Given the description of an element on the screen output the (x, y) to click on. 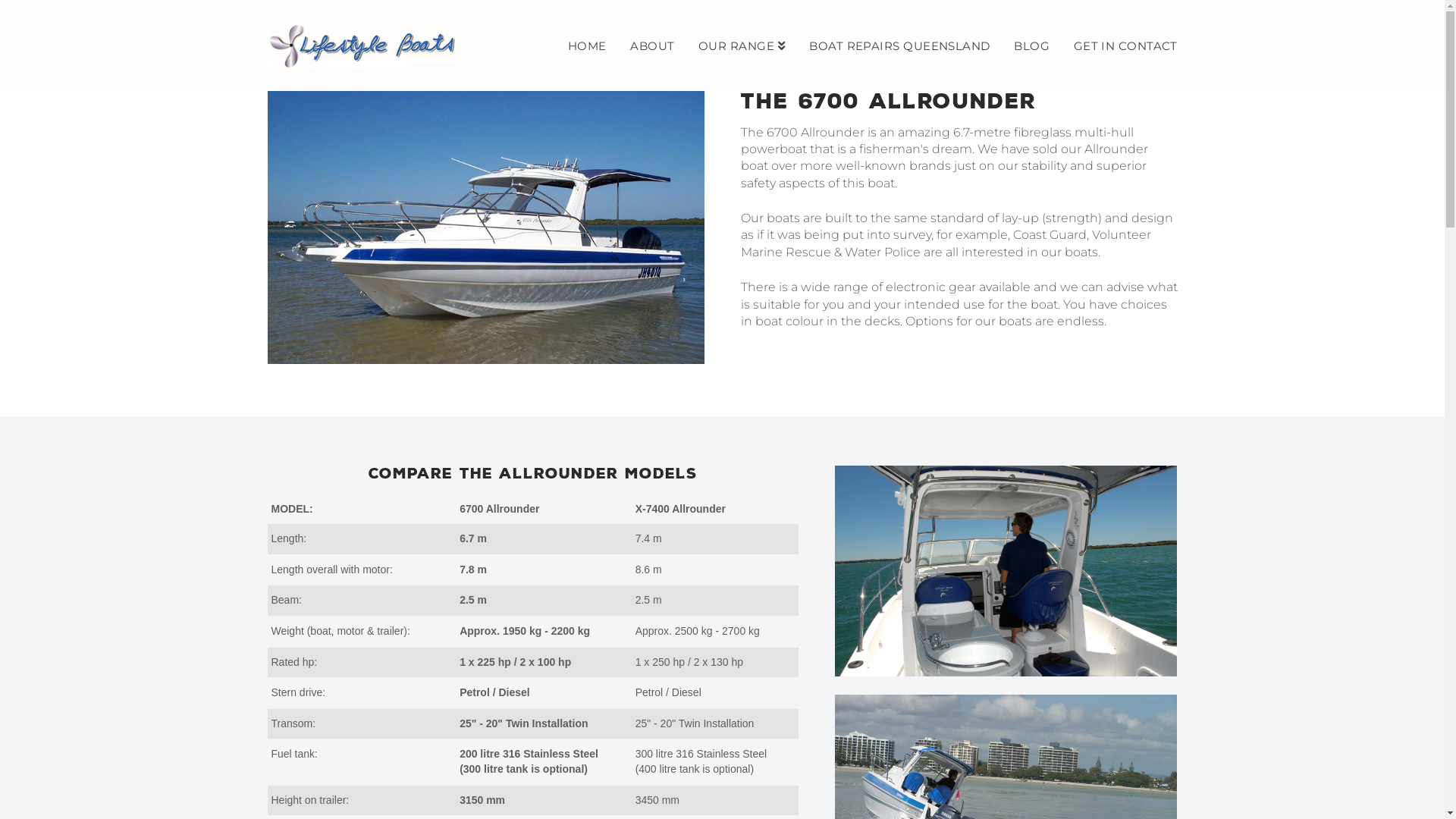
OUR RANGE Element type: text (741, 45)
HOME Element type: text (586, 45)
ABOUT Element type: text (652, 45)
BLOG Element type: text (1030, 45)
GET IN CONTACT Element type: text (1119, 45)
BOAT REPAIRS QUEENSLAND Element type: text (899, 45)
